Given the description of an element on the screen output the (x, y) to click on. 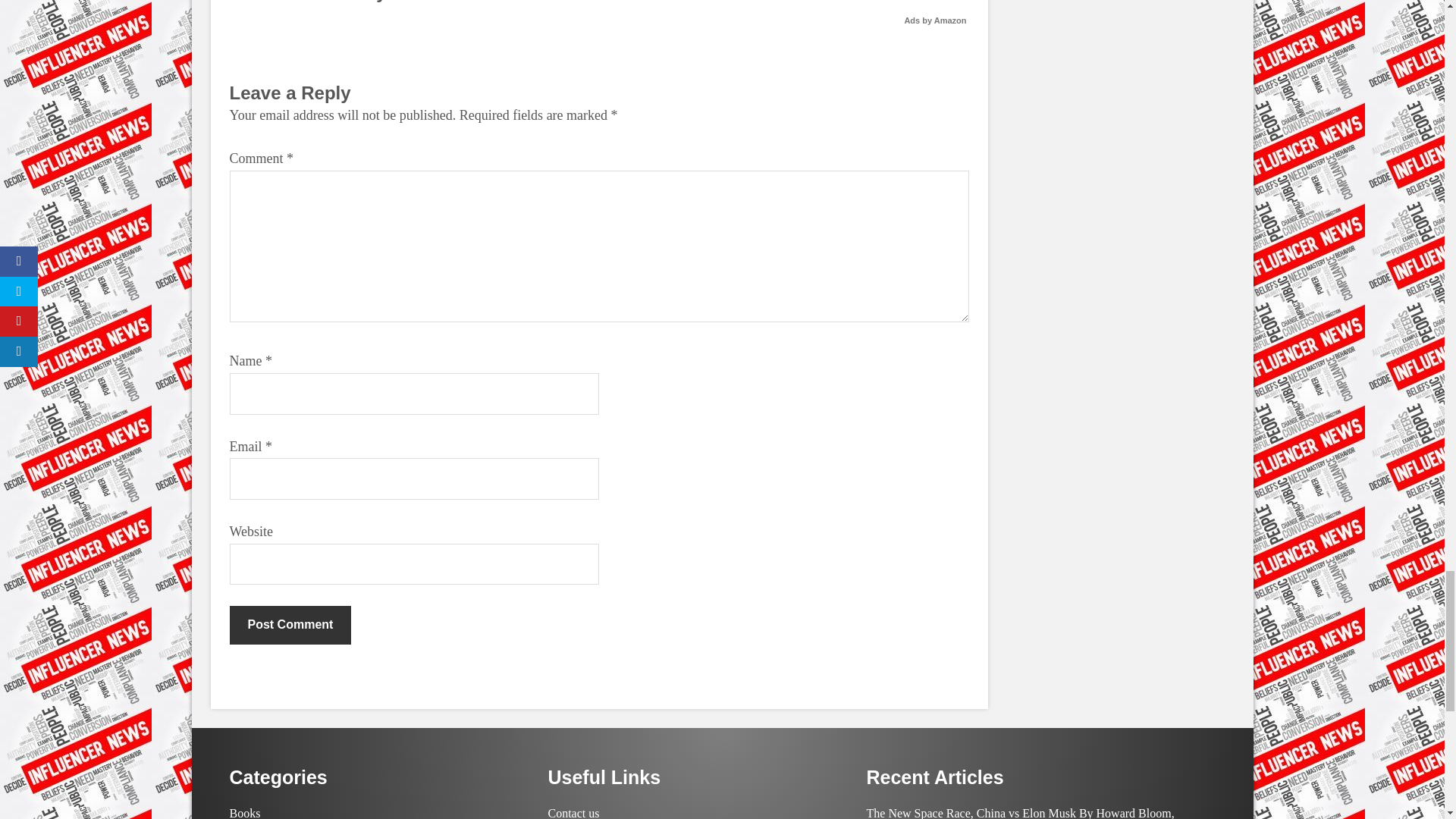
Post Comment (289, 624)
